Given the description of an element on the screen output the (x, y) to click on. 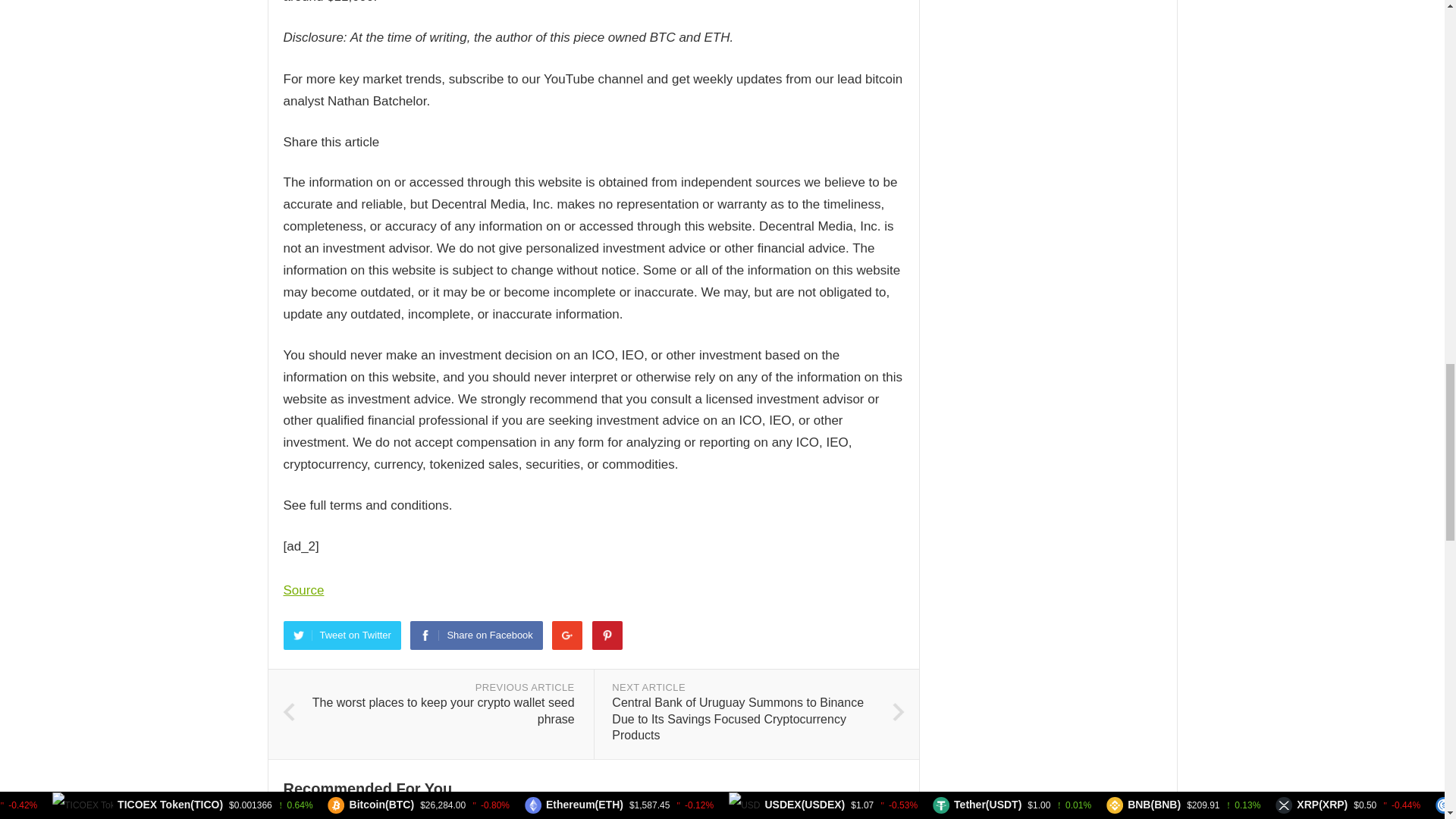
Source (303, 590)
